Given the description of an element on the screen output the (x, y) to click on. 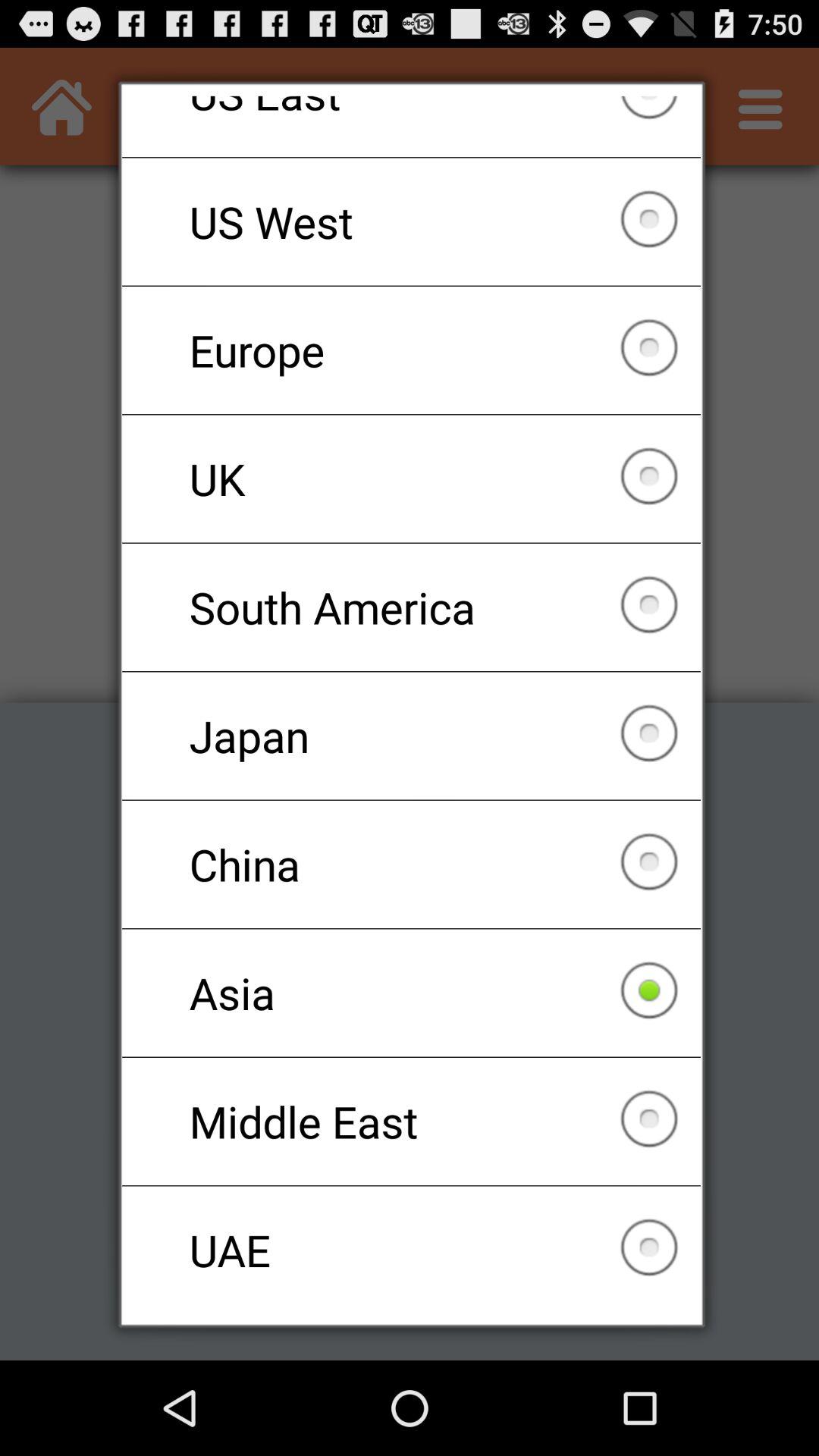
select the checkbox above     china (411, 735)
